Given the description of an element on the screen output the (x, y) to click on. 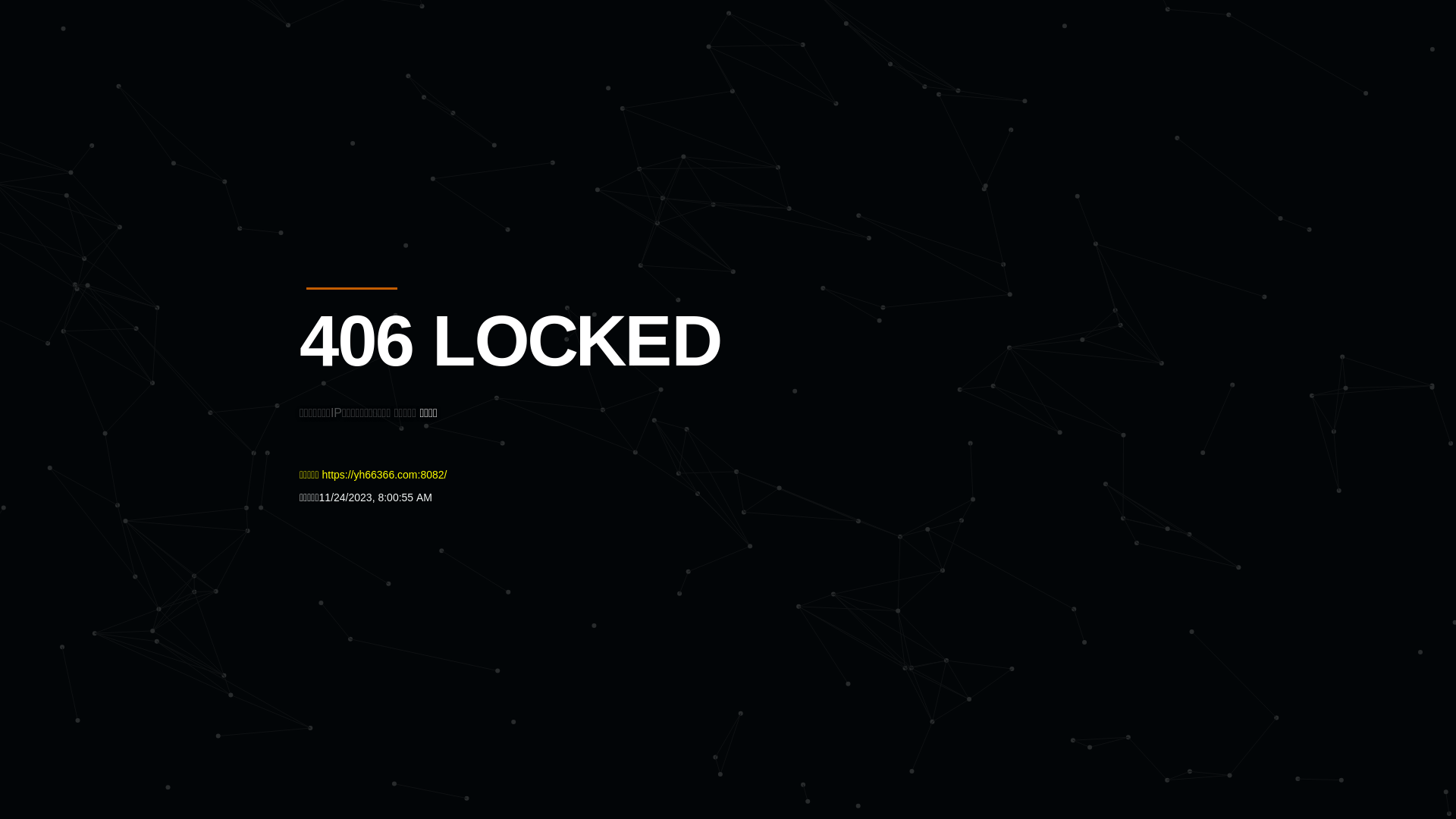
Quatro Element type: text (410, 86)
